Given the description of an element on the screen output the (x, y) to click on. 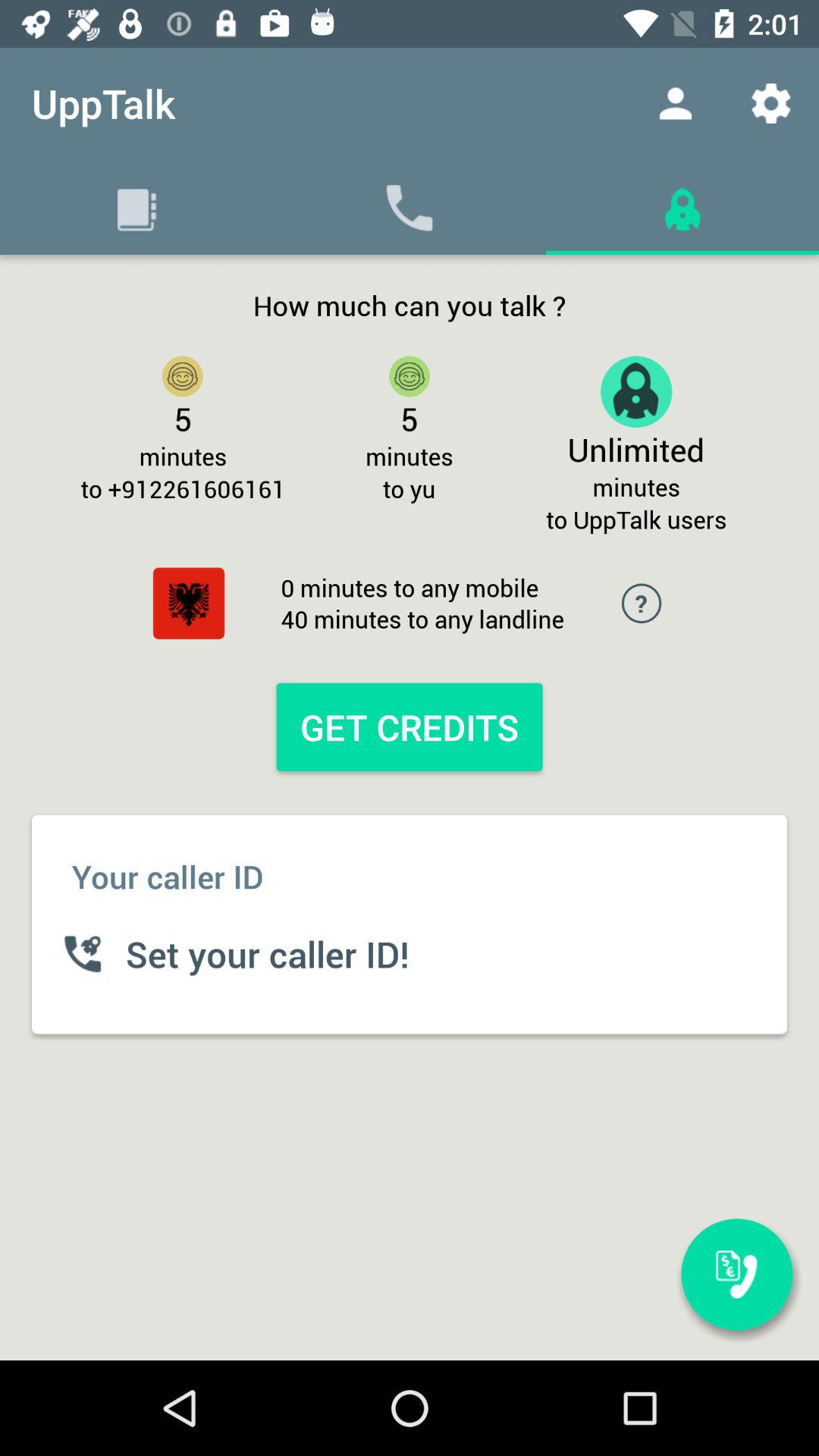
click on phone icon (409, 207)
click on settings icon (771, 103)
click the contacts option from the top left (136, 207)
click on call icon which is at bottom right corner of the page (736, 1274)
